Given the description of an element on the screen output the (x, y) to click on. 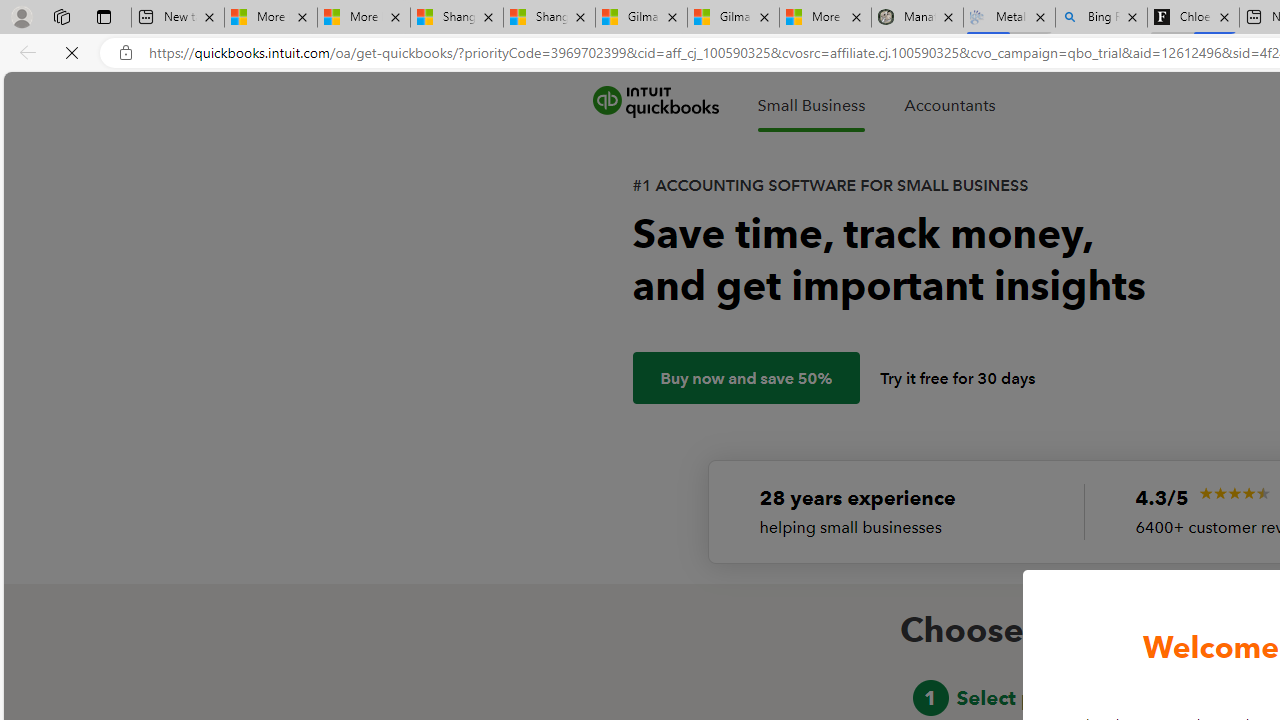
Small Business (811, 105)
Accountants (949, 105)
Chloe Sorvino (1193, 17)
Small Business (811, 105)
Image Alt Text (1234, 493)
Buy now and save 50% (746, 378)
